Given the description of an element on the screen output the (x, y) to click on. 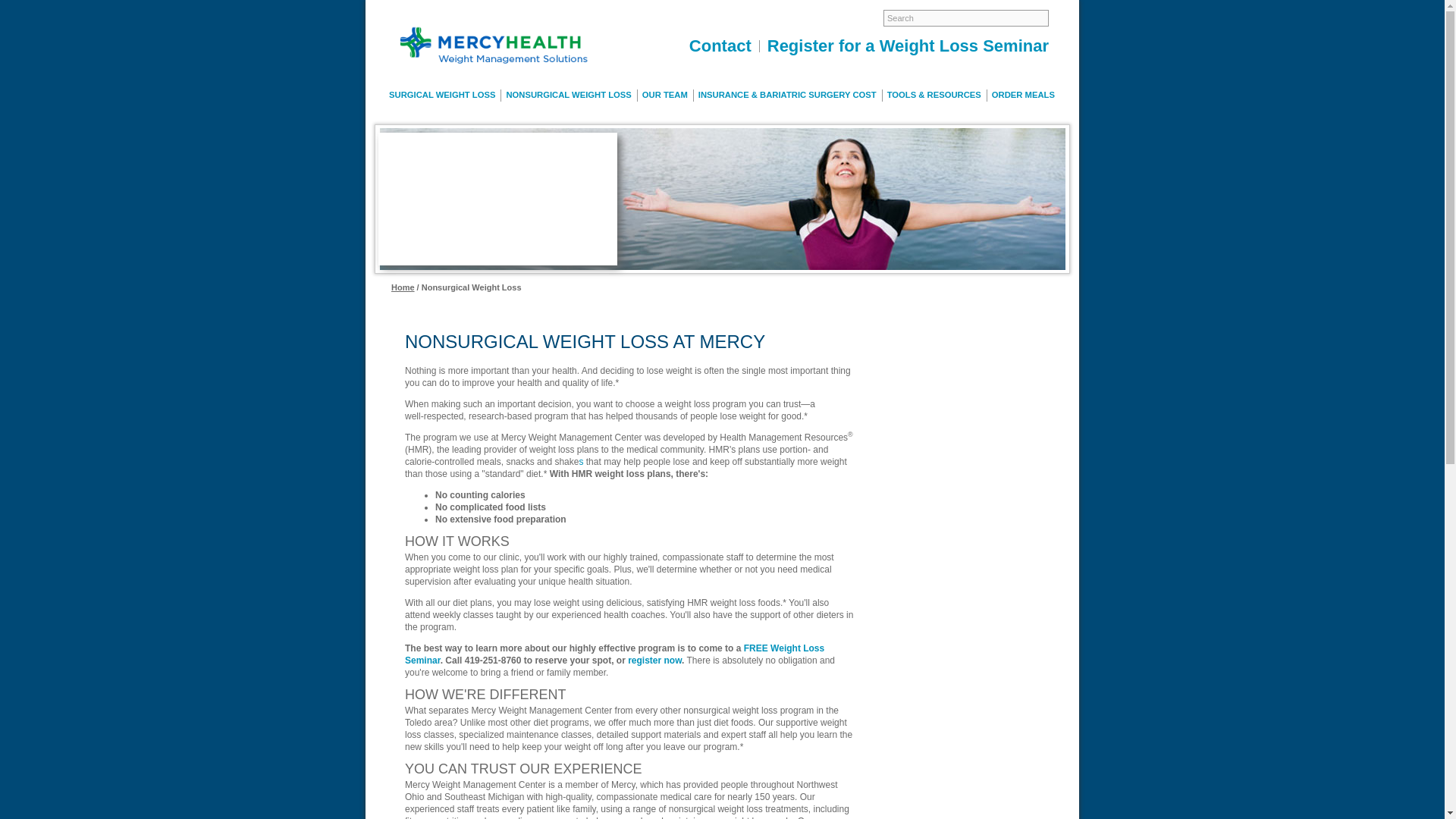
register now (654, 660)
FREE Weight Loss Seminar (614, 653)
Home (402, 286)
Contact (720, 46)
s (580, 461)
Mercy Weight Mananagement Center (494, 49)
SURGICAL WEIGHT LOSS (442, 95)
OUR TEAM (665, 95)
ORDER MEALS (1023, 95)
Search (965, 17)
Search (965, 17)
Register for a Weight Loss Seminar (904, 46)
NONSURGICAL WEIGHT LOSS (568, 95)
